Given the description of an element on the screen output the (x, y) to click on. 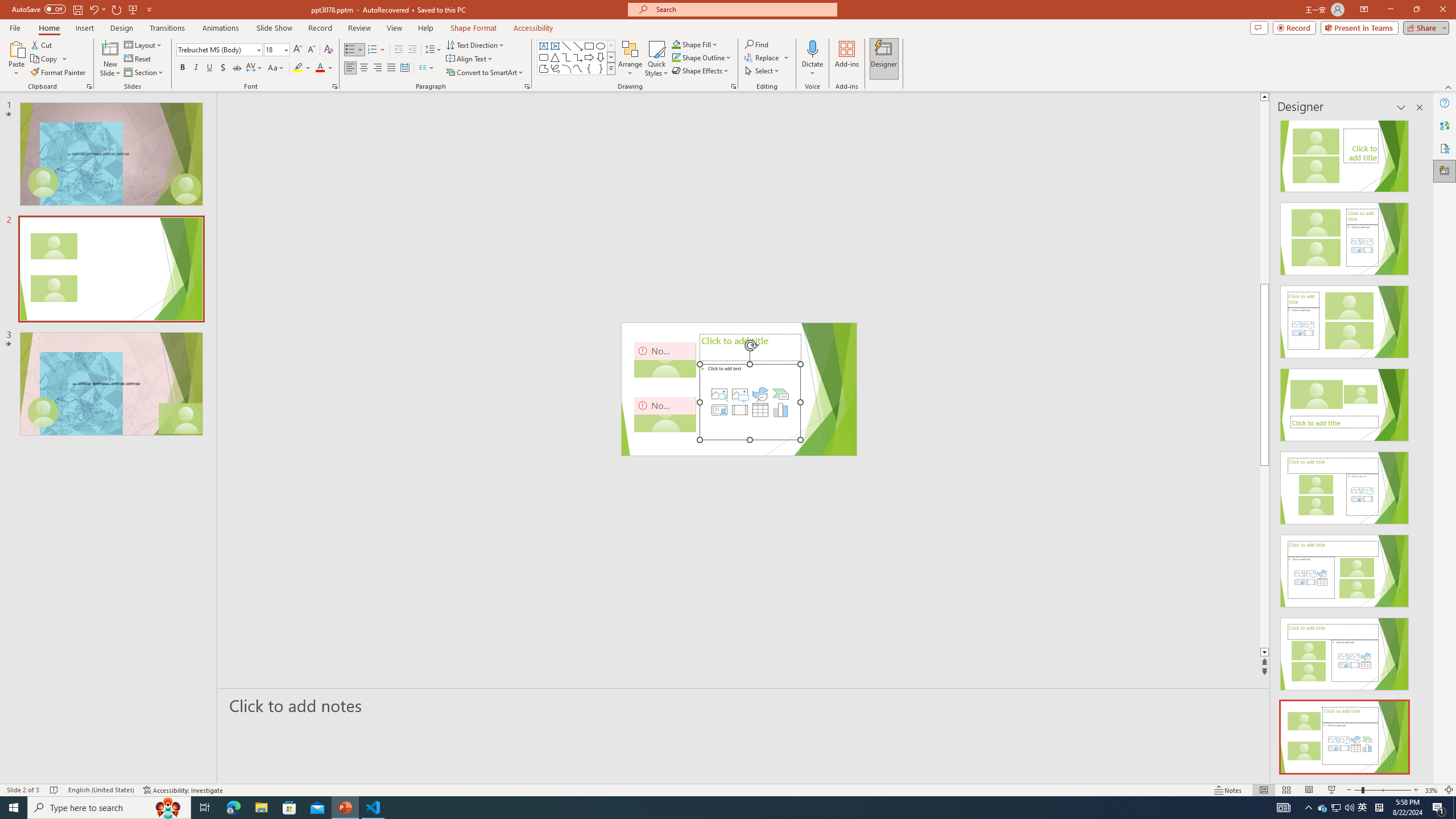
Zoom 33% (1431, 790)
Shape Fill Dark Green, Accent 2 (675, 44)
